Given the description of an element on the screen output the (x, y) to click on. 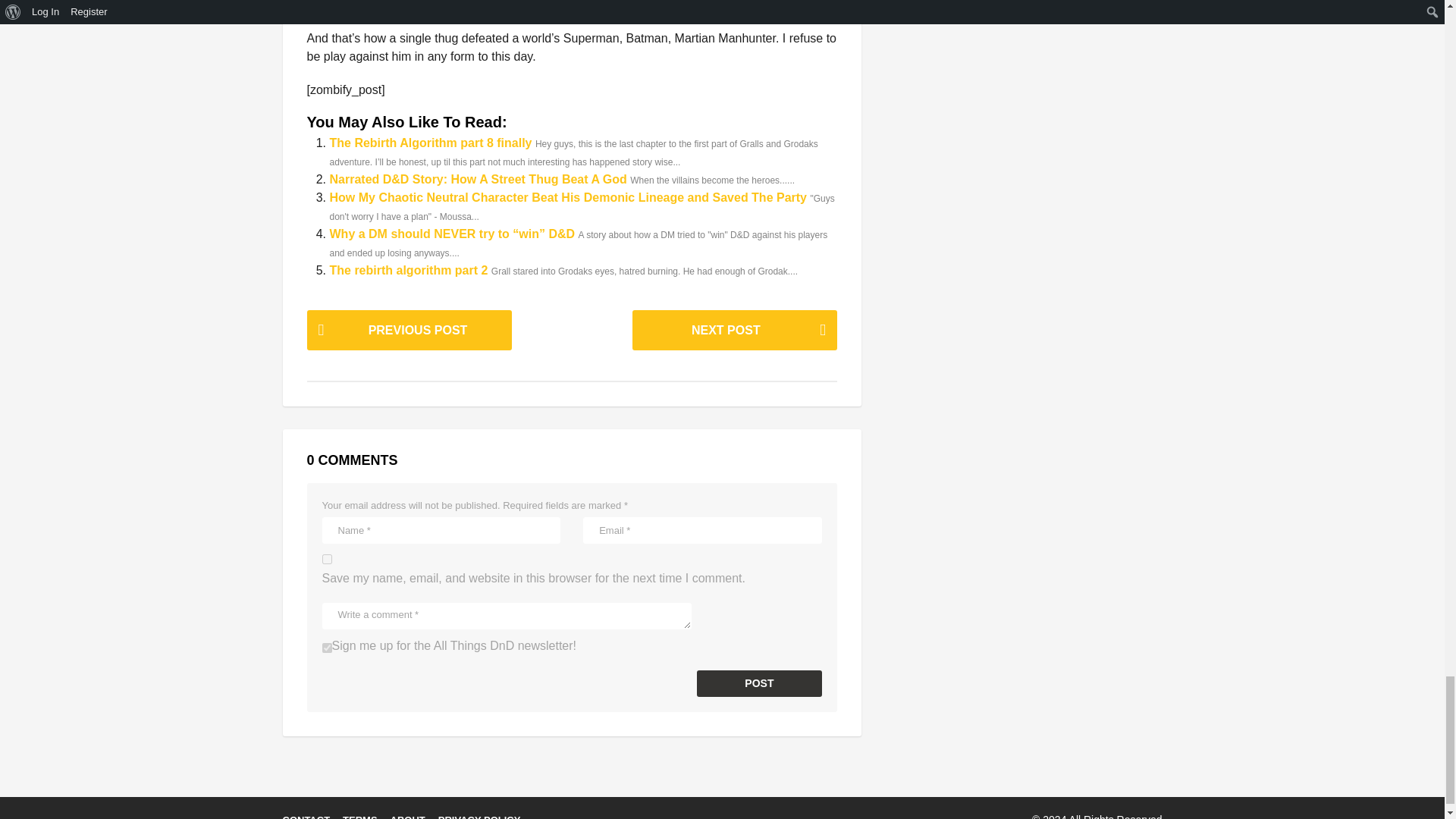
Post (759, 683)
The rebirth algorithm part 2 (409, 269)
1 (326, 647)
The Rebirth Algorithm part 8 finally (431, 142)
yes (326, 559)
